Given the description of an element on the screen output the (x, y) to click on. 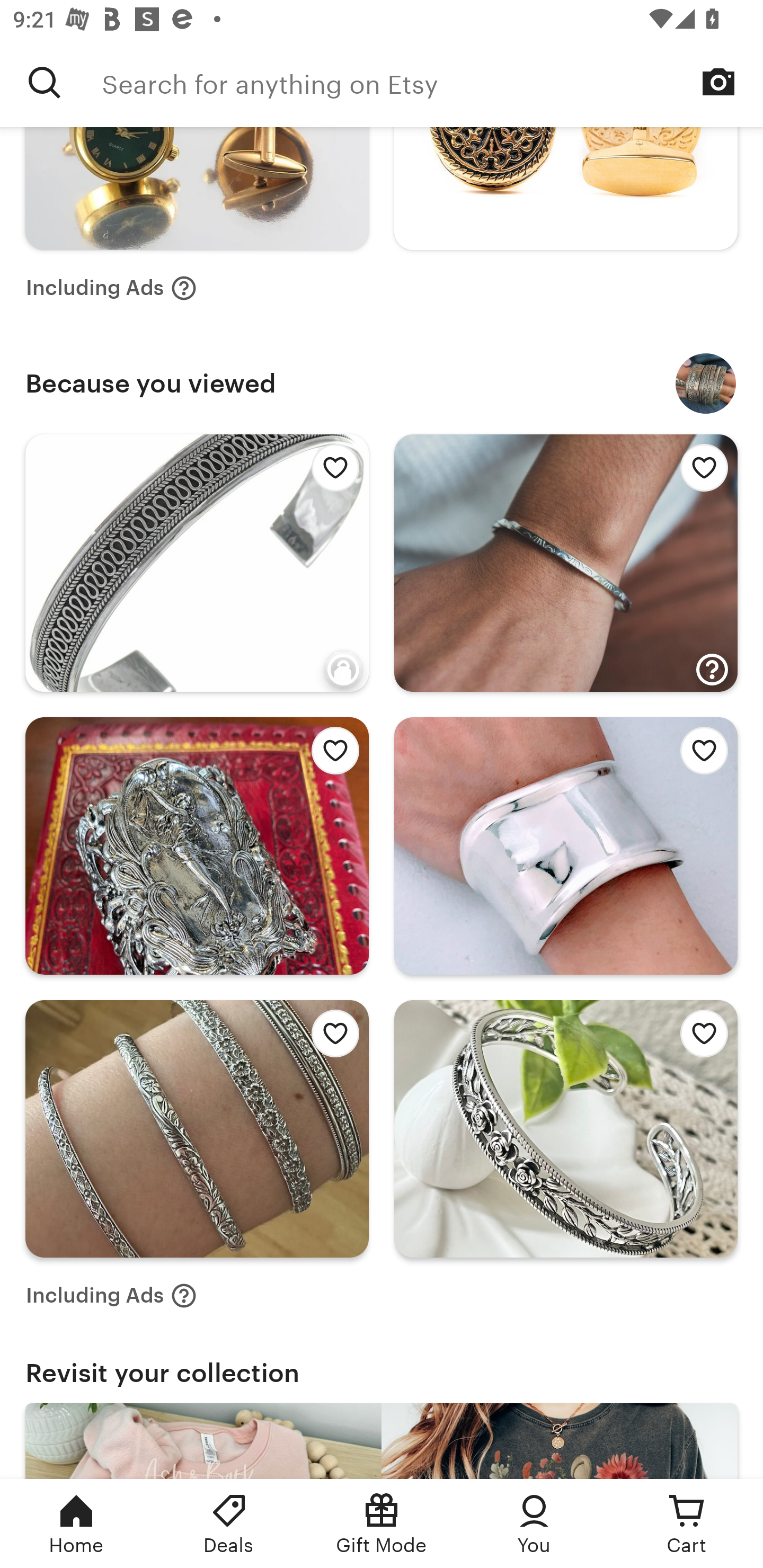
Search for anything on Etsy (44, 82)
Search by image (718, 81)
Search for anything on Etsy (432, 82)
Including Ads (111, 287)
Including Ads (111, 1295)
Deals (228, 1523)
Gift Mode (381, 1523)
You (533, 1523)
Cart (686, 1523)
